Given the description of an element on the screen output the (x, y) to click on. 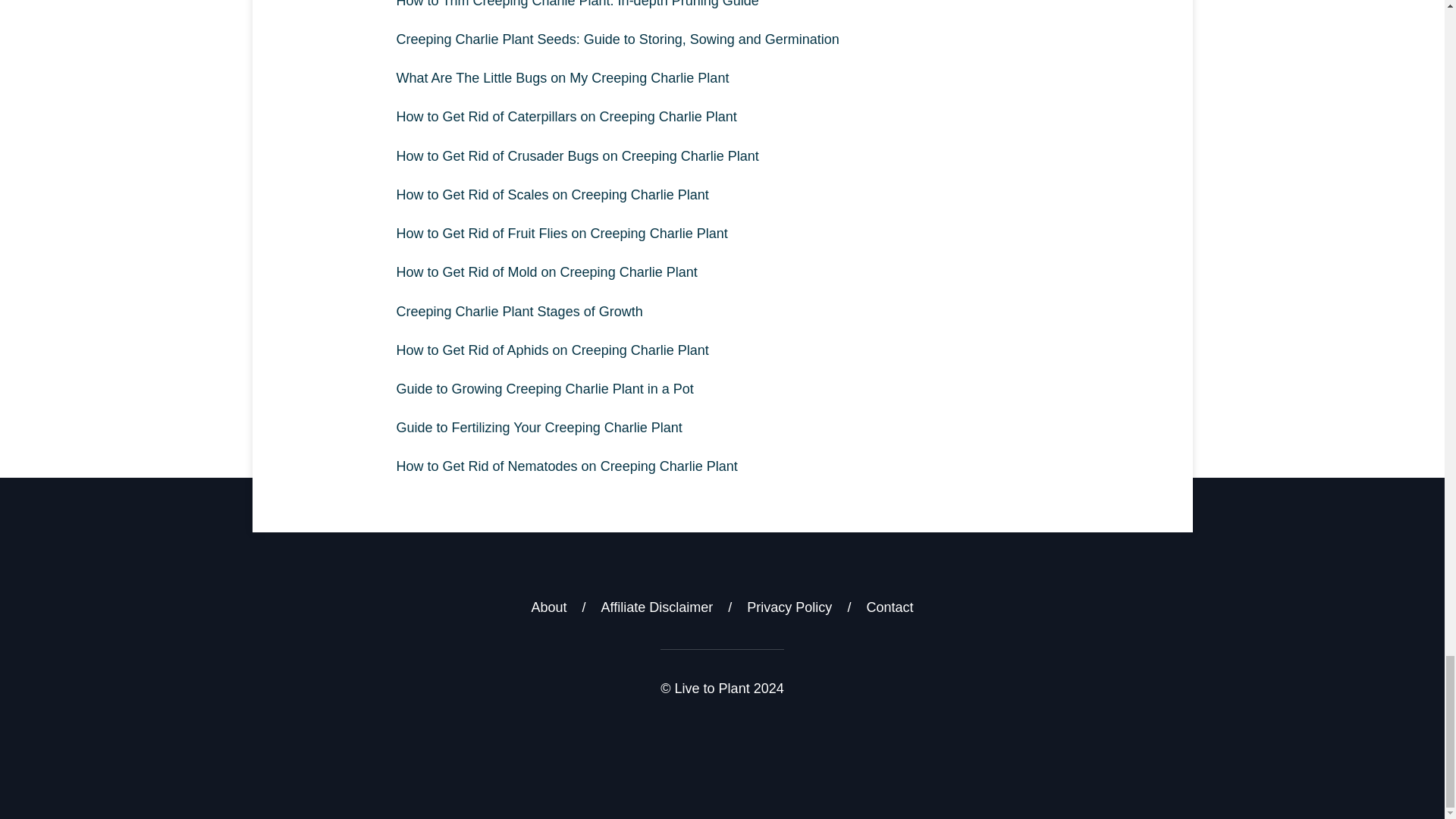
What Are The Little Bugs on My Creeping Charlie Plant (722, 77)
How to Get Rid of Crusader Bugs on Creeping Charlie Plant (722, 156)
How to Get Rid of Caterpillars on Creeping Charlie Plant (722, 116)
How to Get Rid of Aphids on Creeping Charlie Plant (722, 350)
Creeping Charlie Plant Stages of Growth (722, 311)
How to Get Rid of Mold on Creeping Charlie Plant (722, 272)
Guide to Growing Creeping Charlie Plant in a Pot (722, 389)
How to Trim Creeping Charlie Plant: In-depth Pruning Guide (722, 10)
How to Get Rid of Fruit Flies on Creeping Charlie Plant (722, 233)
How to Get Rid of Scales on Creeping Charlie Plant (722, 195)
Guide to Fertilizing Your Creeping Charlie Plant (722, 427)
